Given the description of an element on the screen output the (x, y) to click on. 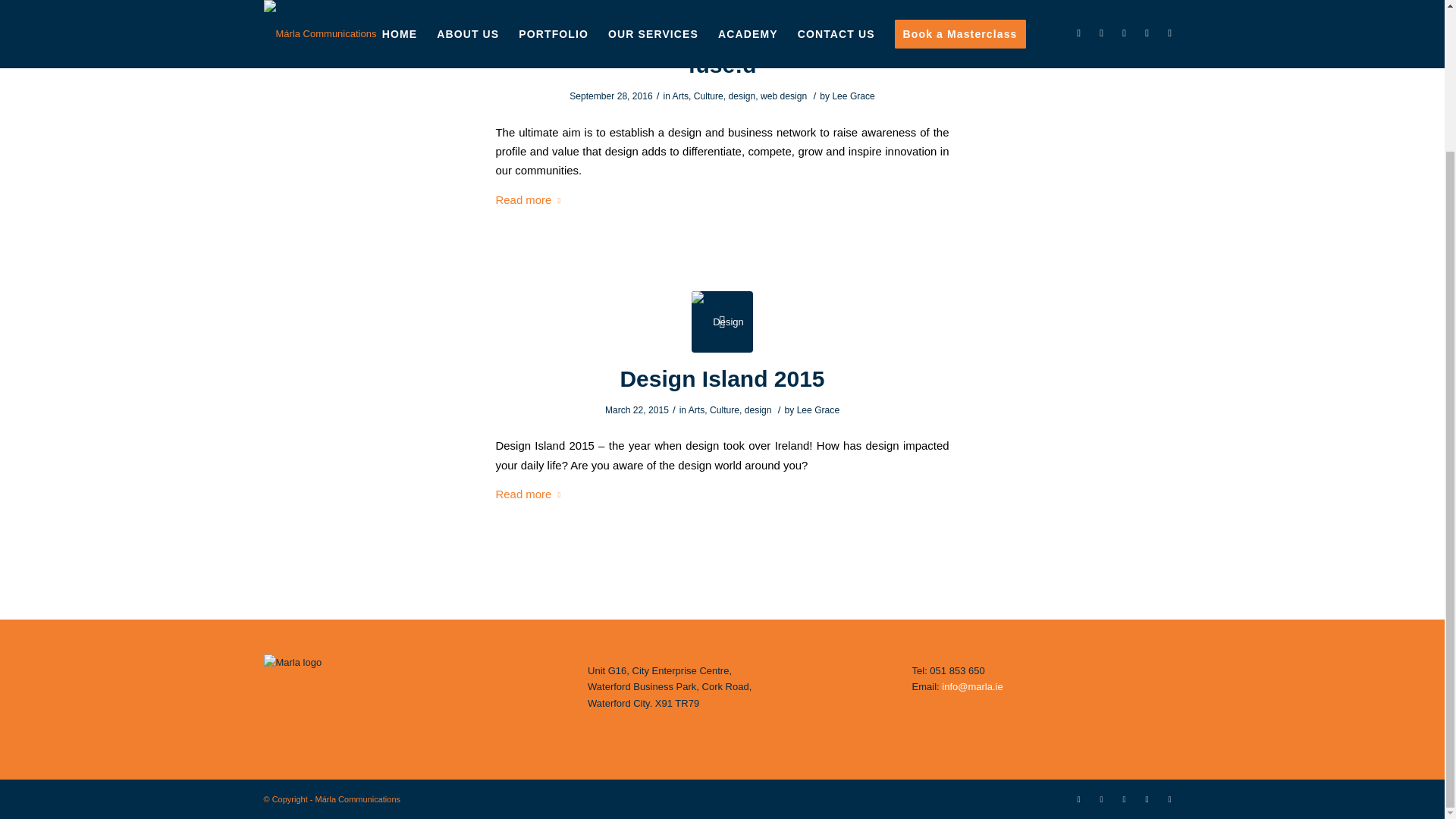
LinkedIn (1078, 798)
design island (721, 321)
Posts by Lee Grace (853, 95)
Permanent Link: fuse:d (722, 64)
fused (721, 19)
Twitter (1146, 798)
Facebook (1101, 798)
Posts by Lee Grace (818, 409)
Permanent Link: Design Island 2015 (722, 378)
Instagram (1124, 798)
